Given the description of an element on the screen output the (x, y) to click on. 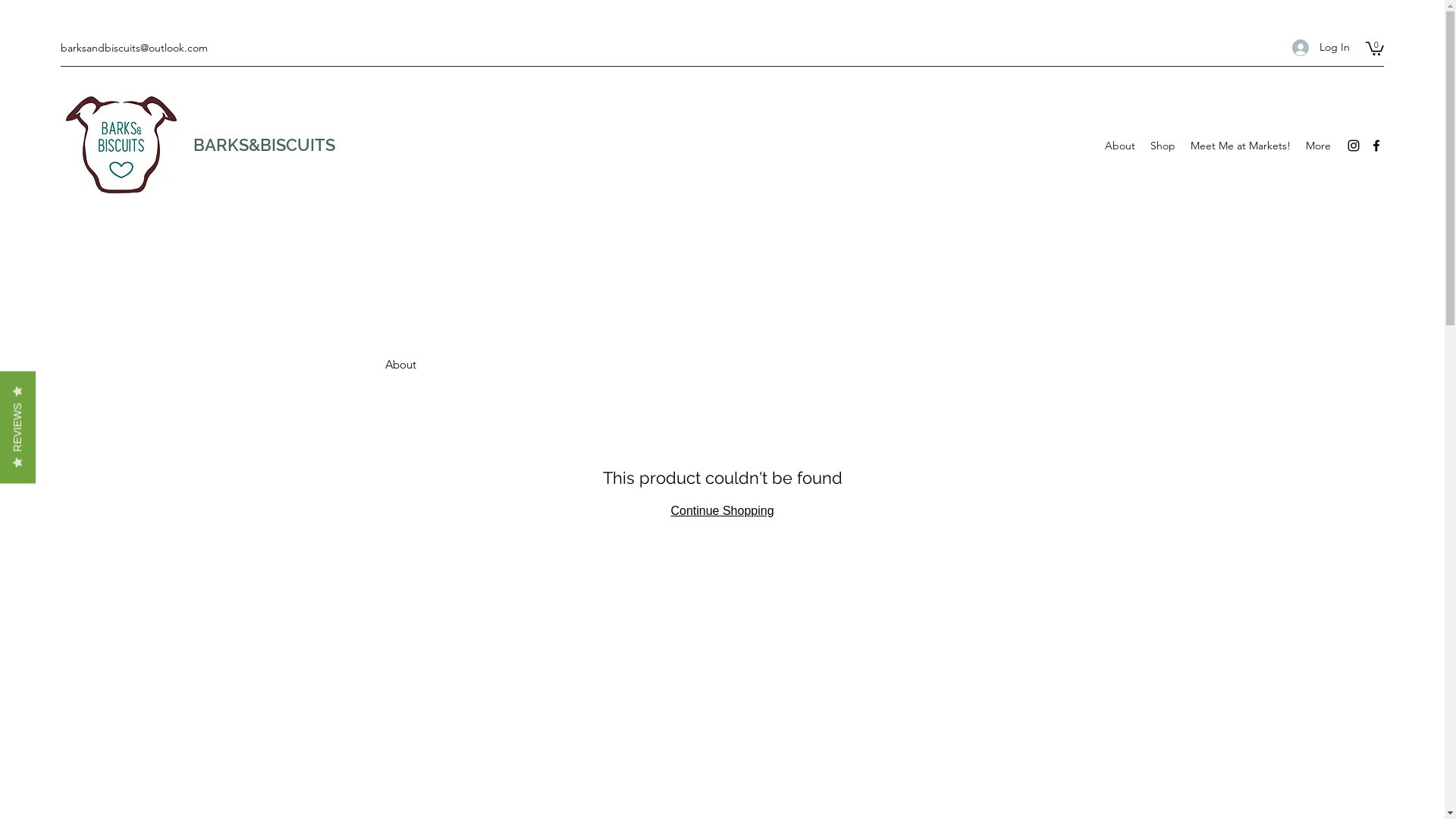
BARKS&BISCUITS Element type: text (264, 144)
Log In Element type: text (1320, 47)
About Element type: text (400, 364)
Continue Shopping Element type: text (721, 510)
0 Element type: text (1374, 47)
Shop Element type: text (1162, 145)
Meet Me at Markets! Element type: text (1240, 145)
About Element type: text (1119, 145)
barksandbiscuits@outlook.com Element type: text (133, 47)
